Given the description of an element on the screen output the (x, y) to click on. 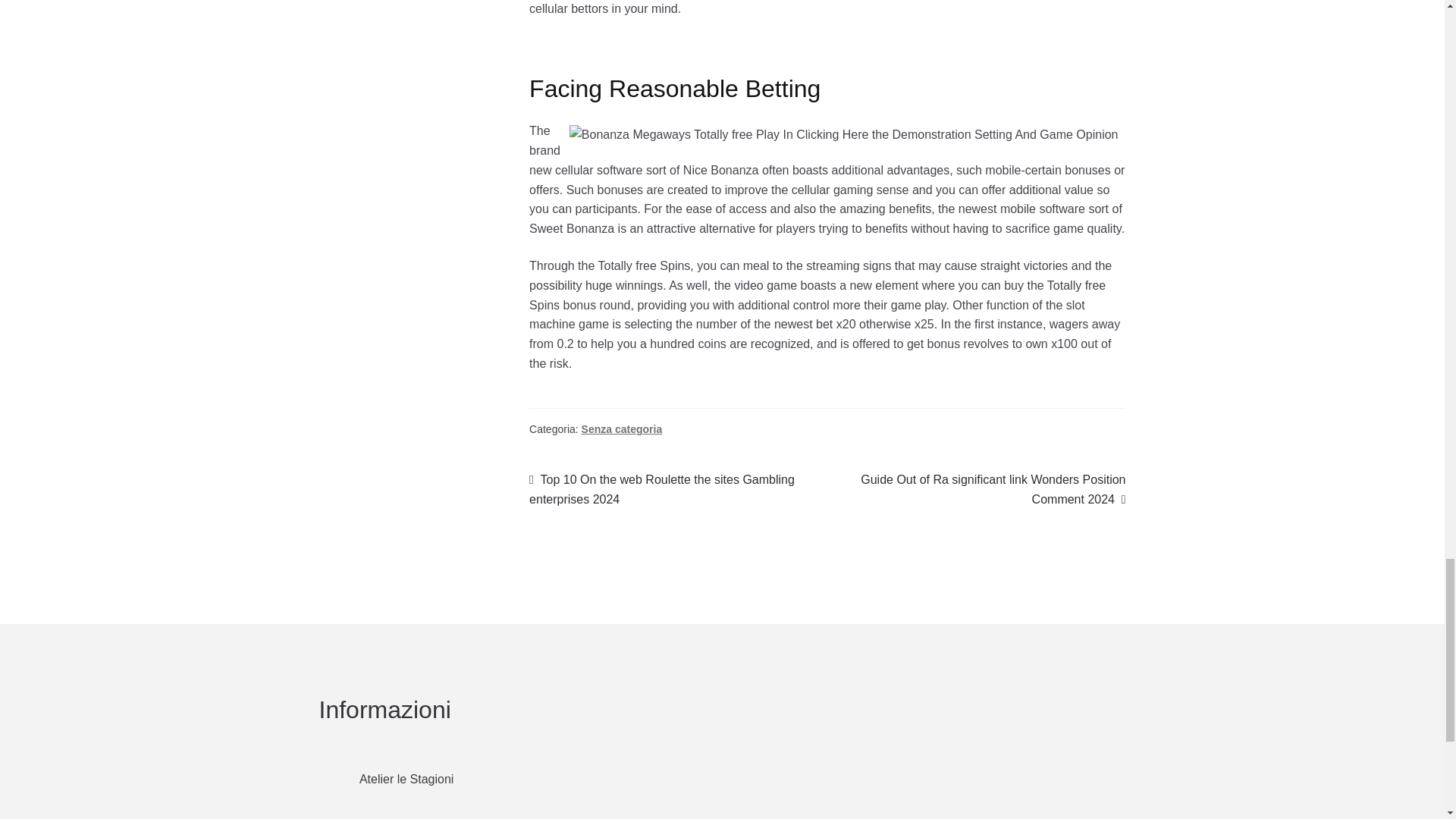
Senza categoria (621, 428)
